Given the description of an element on the screen output the (x, y) to click on. 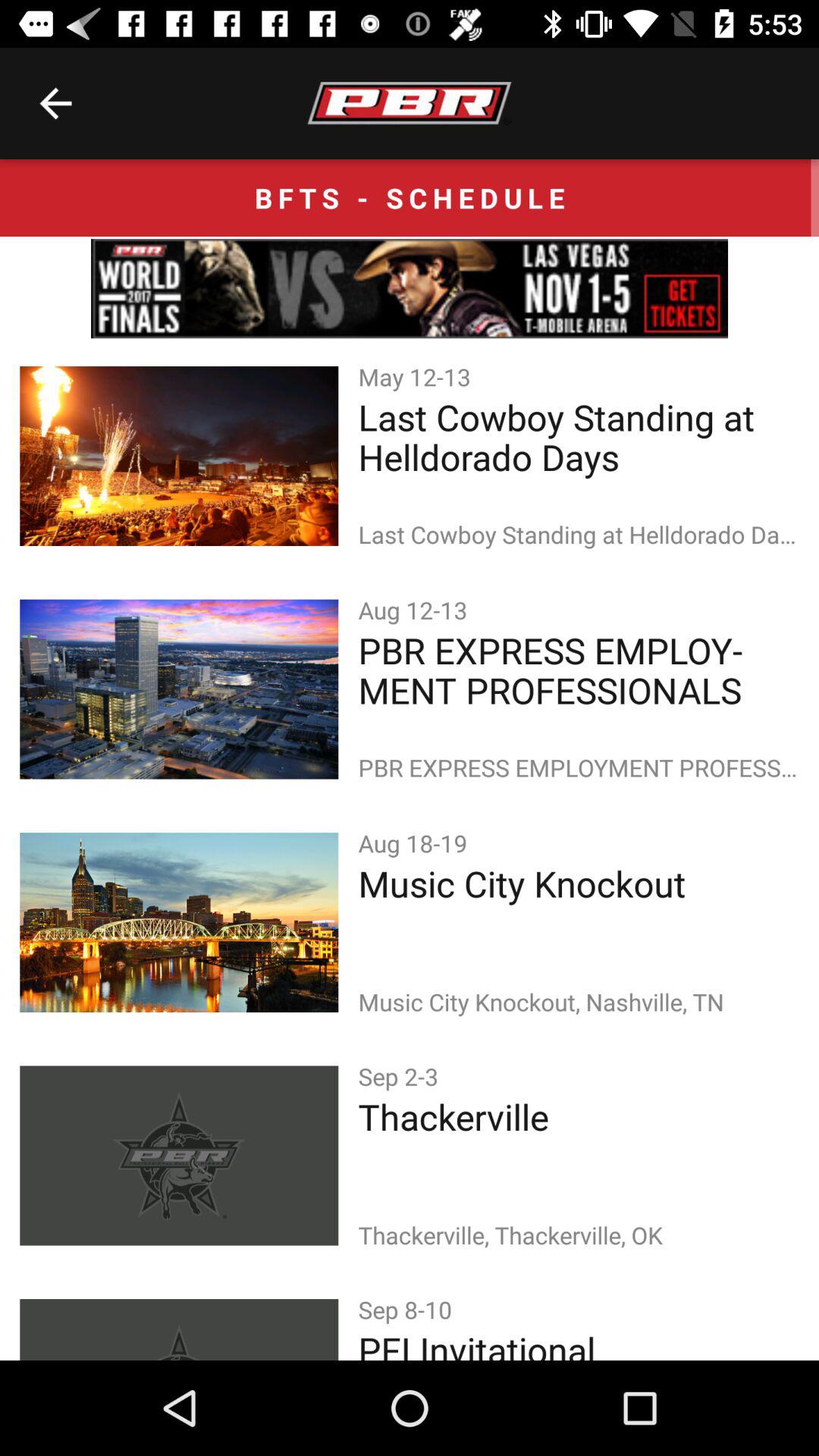
turn on item below pbr express employment icon (415, 842)
